Given the description of an element on the screen output the (x, y) to click on. 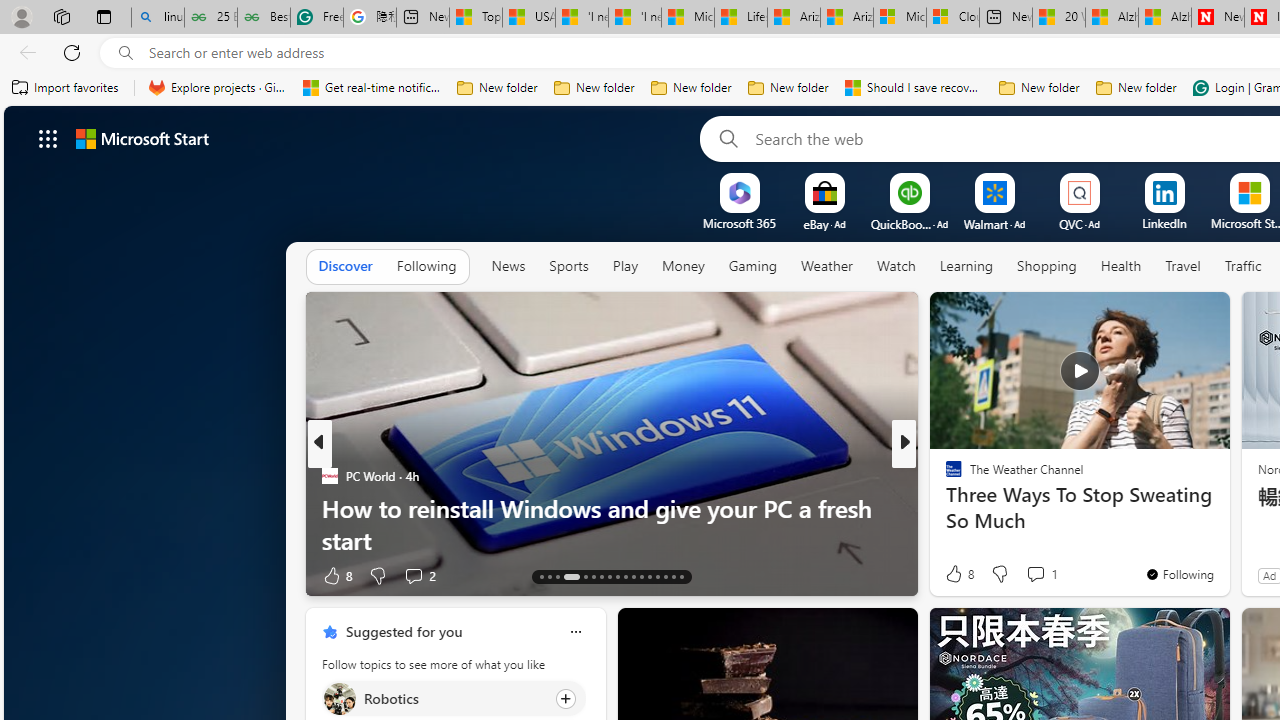
20 Ways to Boost Your Protein Intake at Every Meal (1059, 17)
Start the conversation (1036, 575)
Class: icon-img (575, 632)
LinkedIn (1163, 223)
222 Like (959, 574)
Traffic (1243, 265)
View comments 319 Comment (1035, 575)
AutomationID: tab-16 (571, 576)
Cloud Computing Services | Microsoft Azure (952, 17)
Weather (826, 265)
Ad Choice (287, 575)
Health (1121, 267)
View comments 1 Comment (1041, 574)
